Given the description of an element on the screen output the (x, y) to click on. 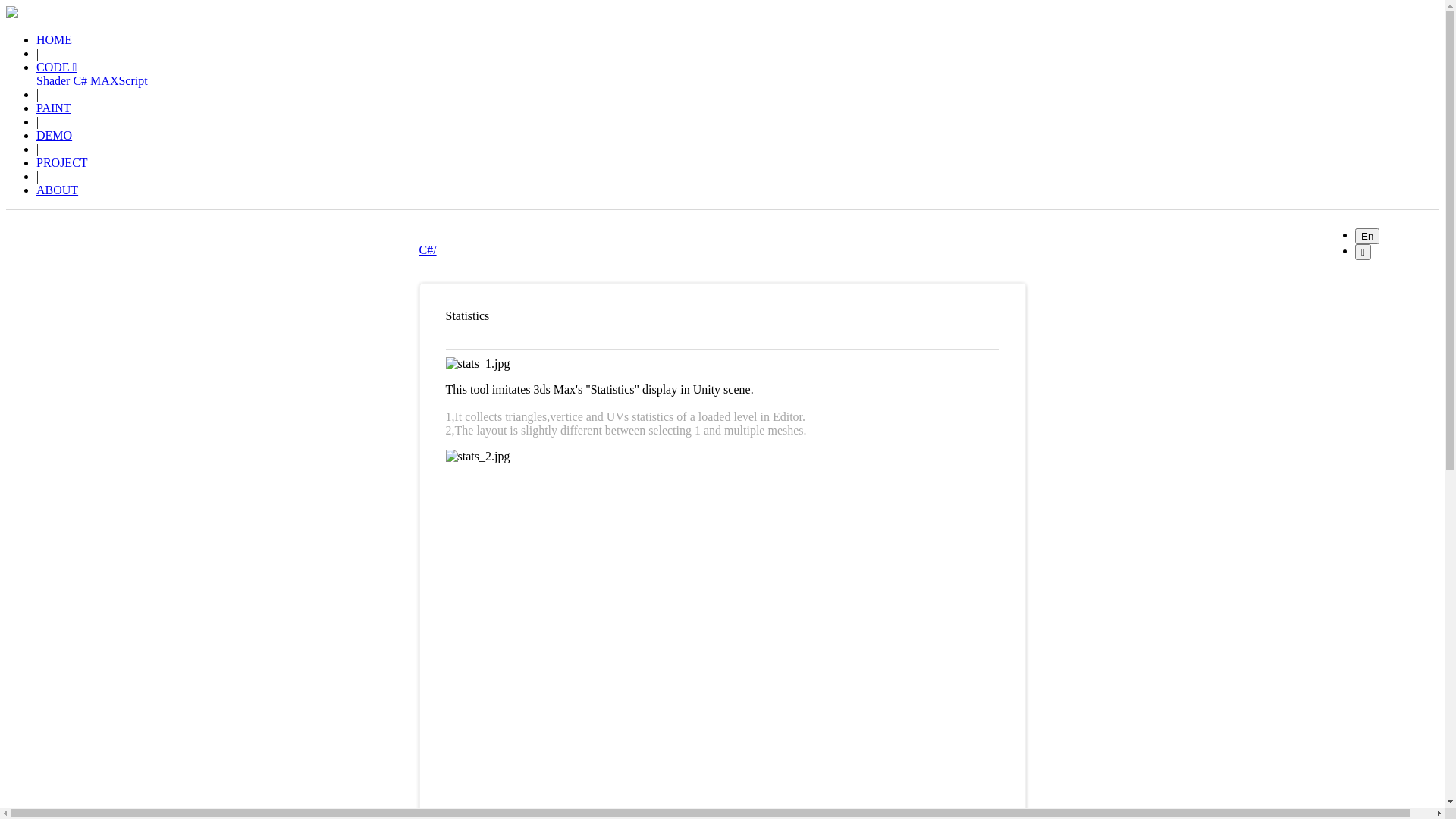
MAXScript Element type: text (118, 80)
DEMO Element type: text (54, 134)
PAINT Element type: text (53, 107)
Shader Element type: text (52, 80)
PROJECT Element type: text (61, 162)
C# Element type: text (79, 80)
C#/ Element type: text (427, 249)
HOME Element type: text (54, 39)
En Element type: text (1367, 236)
ABOUT Element type: text (57, 189)
